Given the description of an element on the screen output the (x, y) to click on. 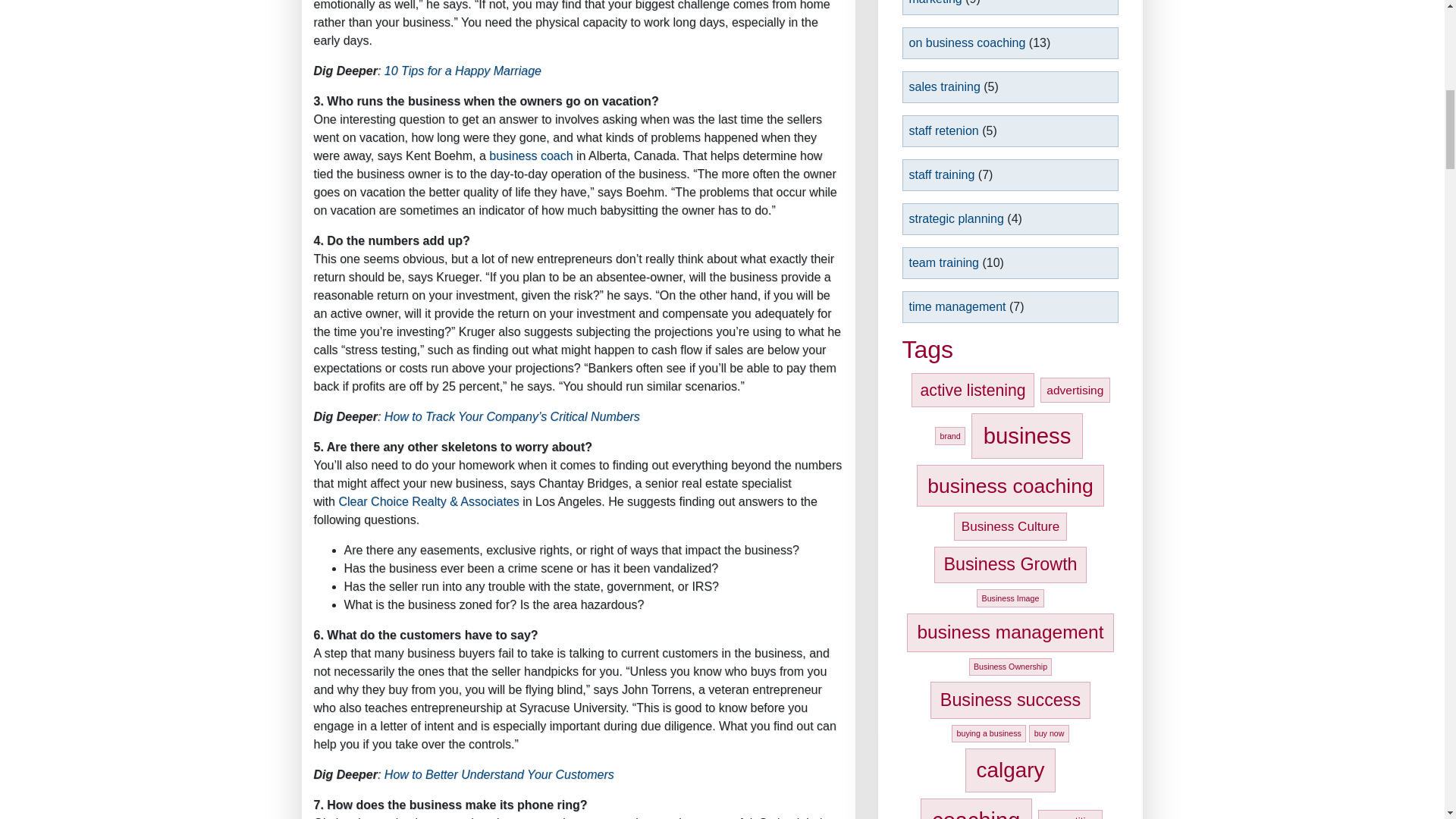
How to Better Understand Your Customers (499, 774)
business coach (530, 155)
10 Tips for a Happy Marriage (462, 70)
